Given the description of an element on the screen output the (x, y) to click on. 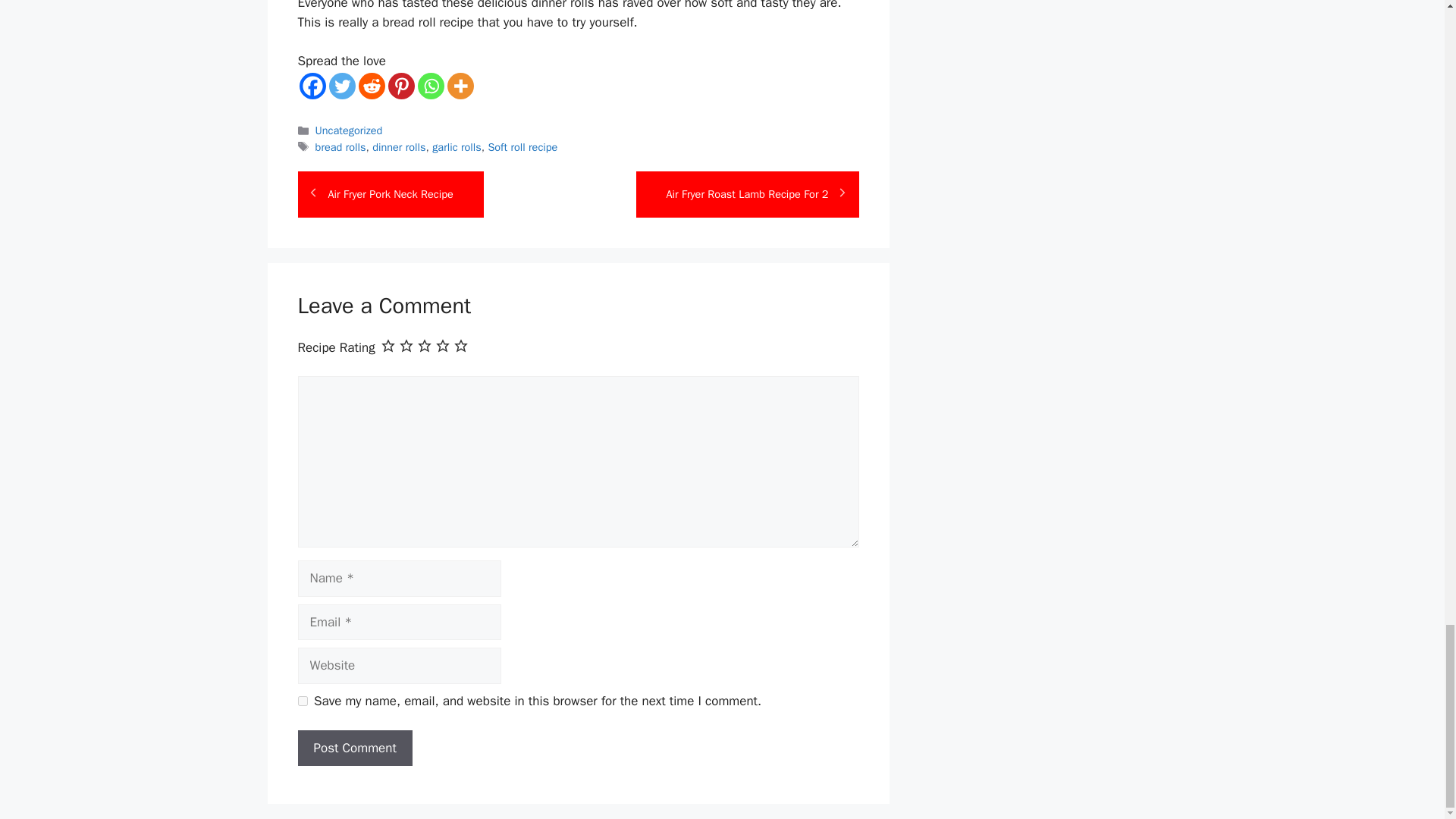
yes (302, 700)
bread rolls (340, 146)
garlic rolls (456, 146)
Whatsapp (430, 85)
dinner rolls (398, 146)
Post Comment (354, 748)
Post Comment (354, 748)
Pinterest (401, 85)
More (460, 85)
Soft roll recipe (522, 146)
